Given the description of an element on the screen output the (x, y) to click on. 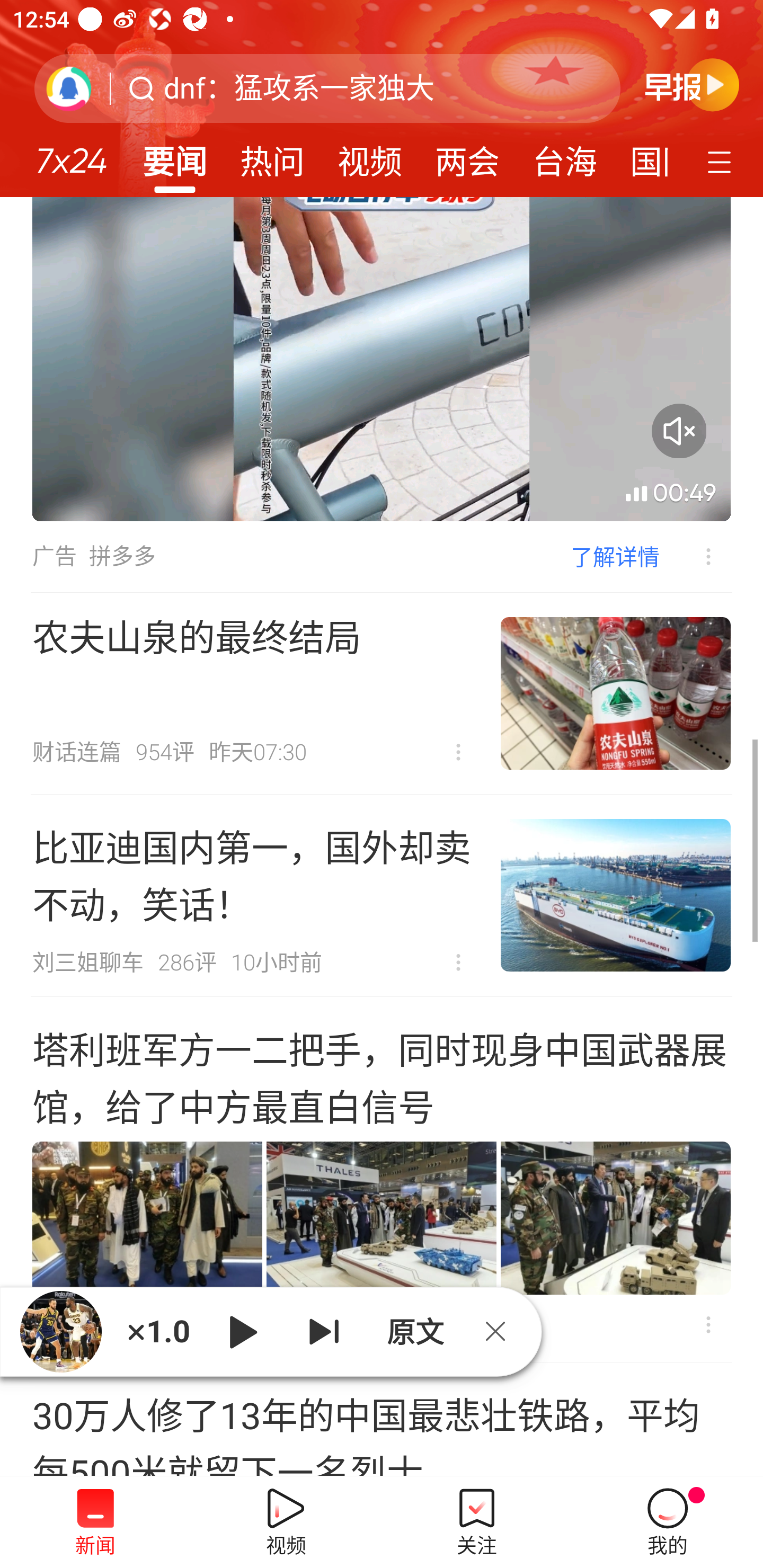
早晚报 (691, 84)
刷新 (68, 88)
dnf：猛攻系一家独大 (299, 88)
7x24 (70, 154)
要闻 (174, 155)
热问 (272, 155)
视频 (369, 155)
两会 (466, 155)
台海 (564, 155)
 定制频道 (721, 160)
00:49 音量开关 (381, 358)
音量开关 (678, 429)
 不感兴趣 (694, 556)
了解详情 (614, 556)
广告 (54, 556)
拼多多 (122, 556)
农夫山泉的最终结局 财话连篇 954评 昨天07:30  不感兴趣 (381, 692)
 不感兴趣 (458, 752)
比亚迪国内第一，国外却卖不动，笑话！ 刘三姐聊车 286评 10小时前  不感兴趣 (381, 894)
 不感兴趣 (458, 962)
 播放 (242, 1330)
 下一个 (323, 1330)
 关闭 (501, 1330)
播放器 (60, 1331)
原文 (413, 1331)
 1.0 (157, 1330)
 不感兴趣 (707, 1324)
